Given the description of an element on the screen output the (x, y) to click on. 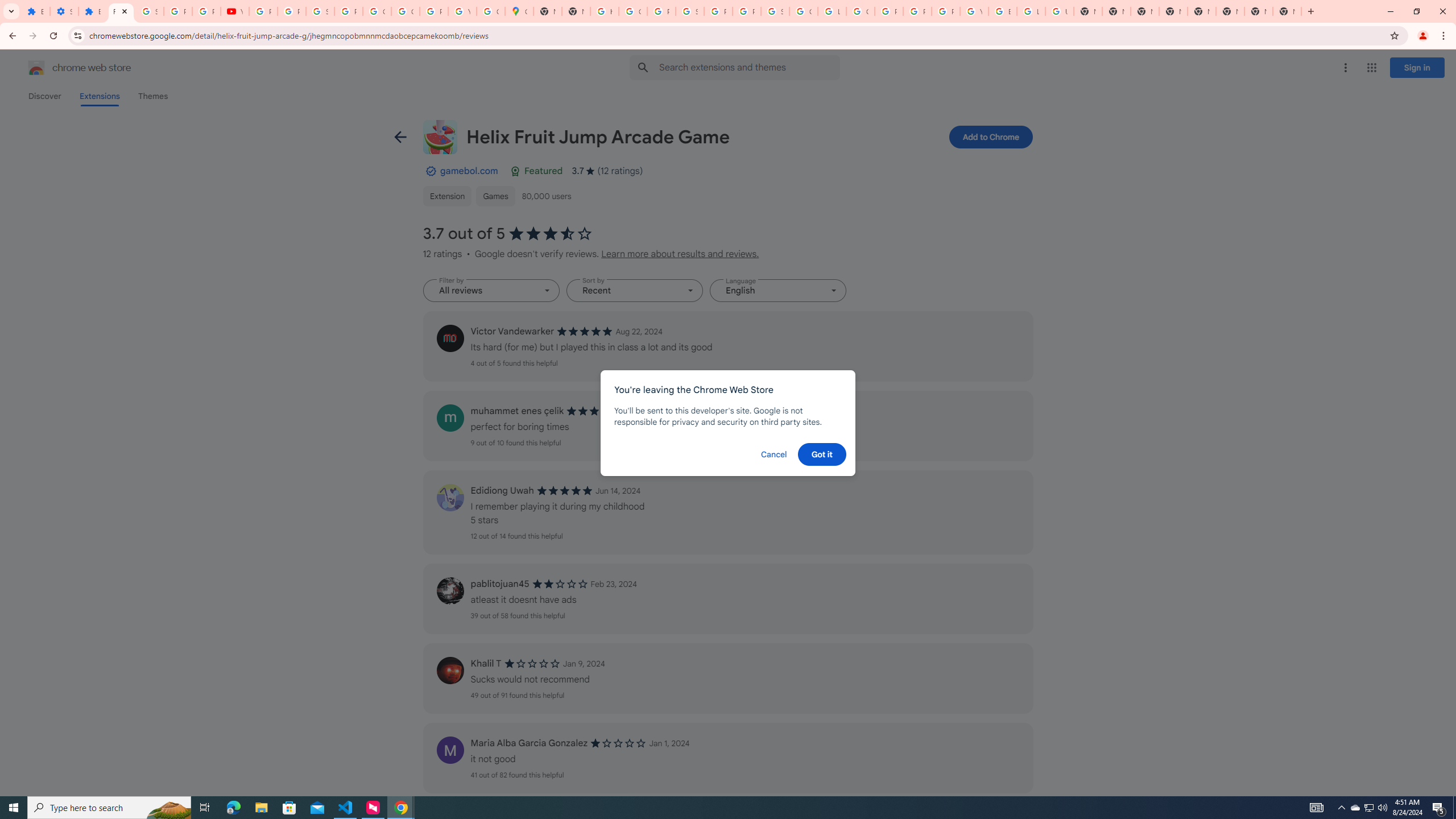
Reviews: Helix Fruit Jump Arcade Game (120, 11)
Extensions (35, 11)
Privacy Help Center - Policies Help (888, 11)
Google Account (377, 11)
